Given the description of an element on the screen output the (x, y) to click on. 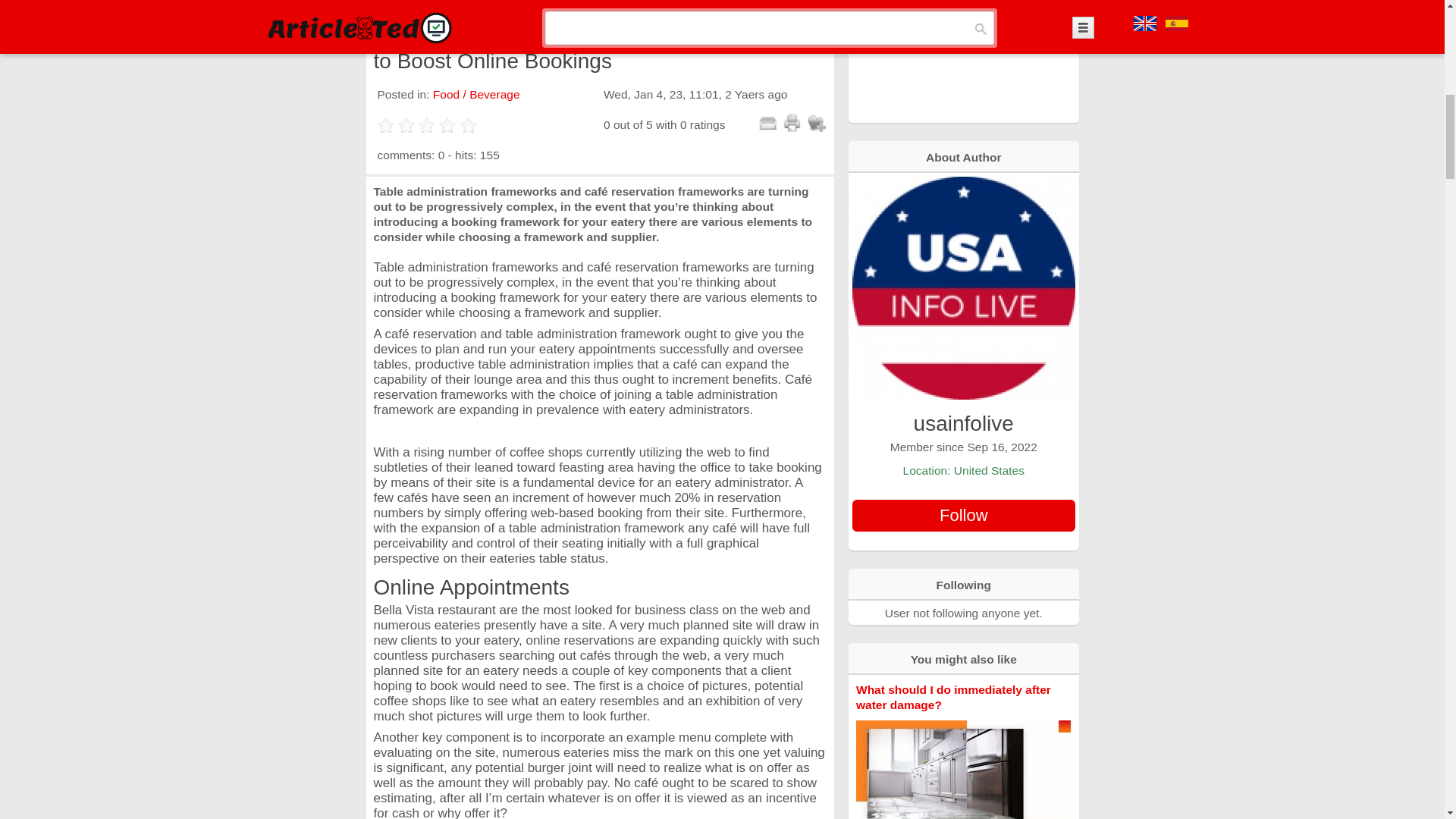
Advertisement (963, 60)
What should I do immediately after water damage? (953, 697)
Follow (963, 515)
